Given the description of an element on the screen output the (x, y) to click on. 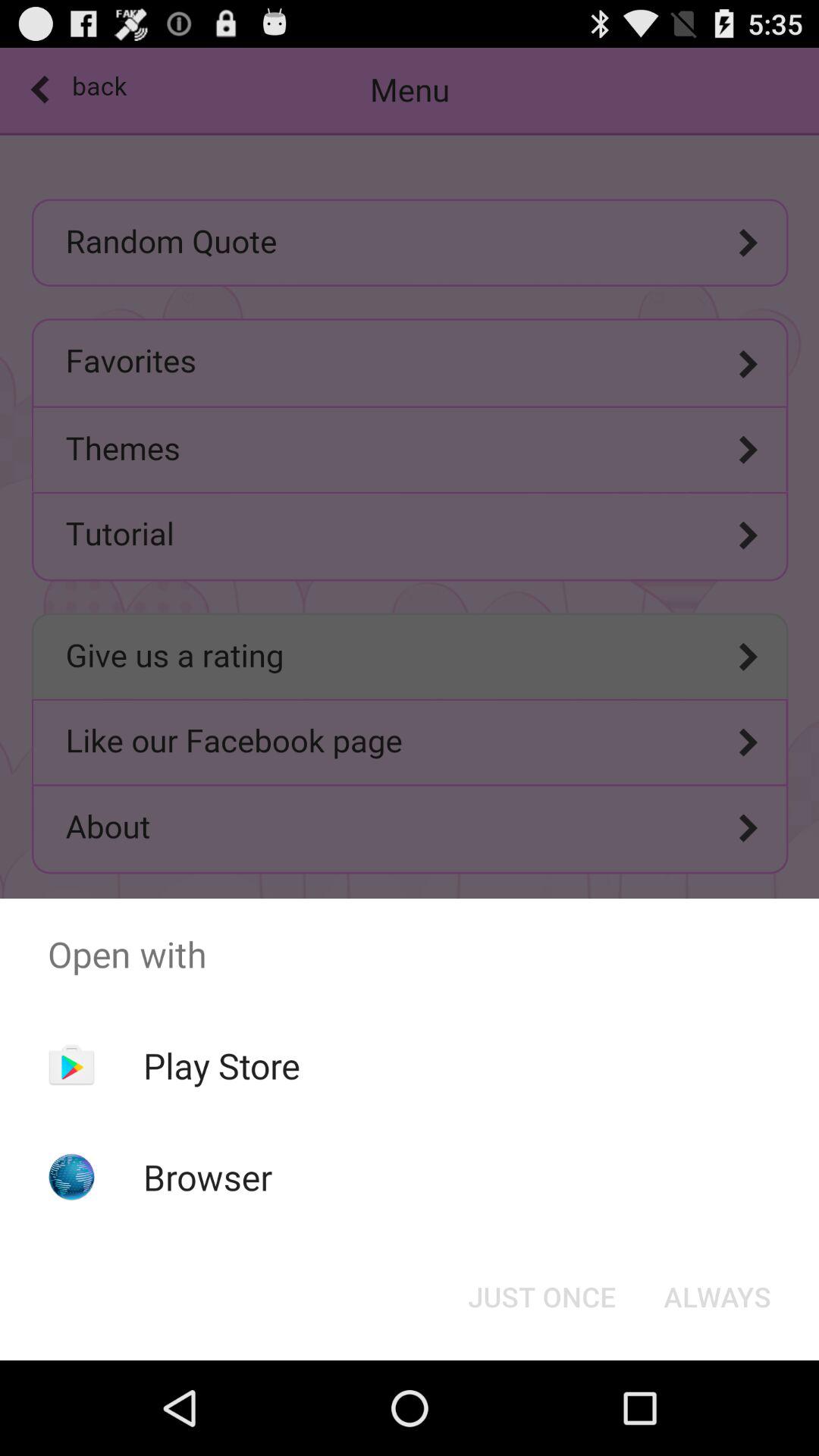
scroll to the browser item (207, 1176)
